Given the description of an element on the screen output the (x, y) to click on. 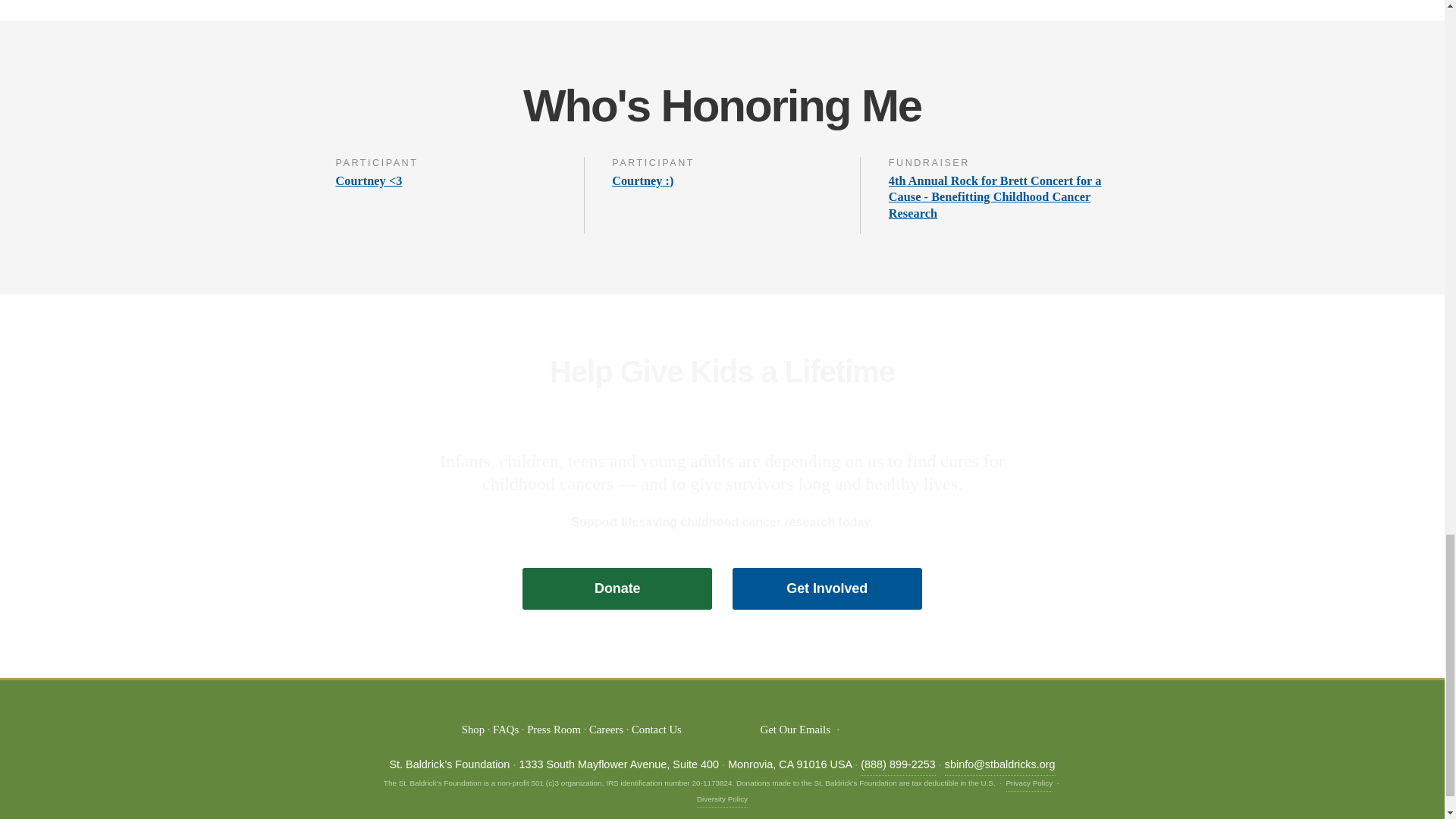
Donate (616, 588)
Get Involved (826, 588)
